Given the description of an element on the screen output the (x, y) to click on. 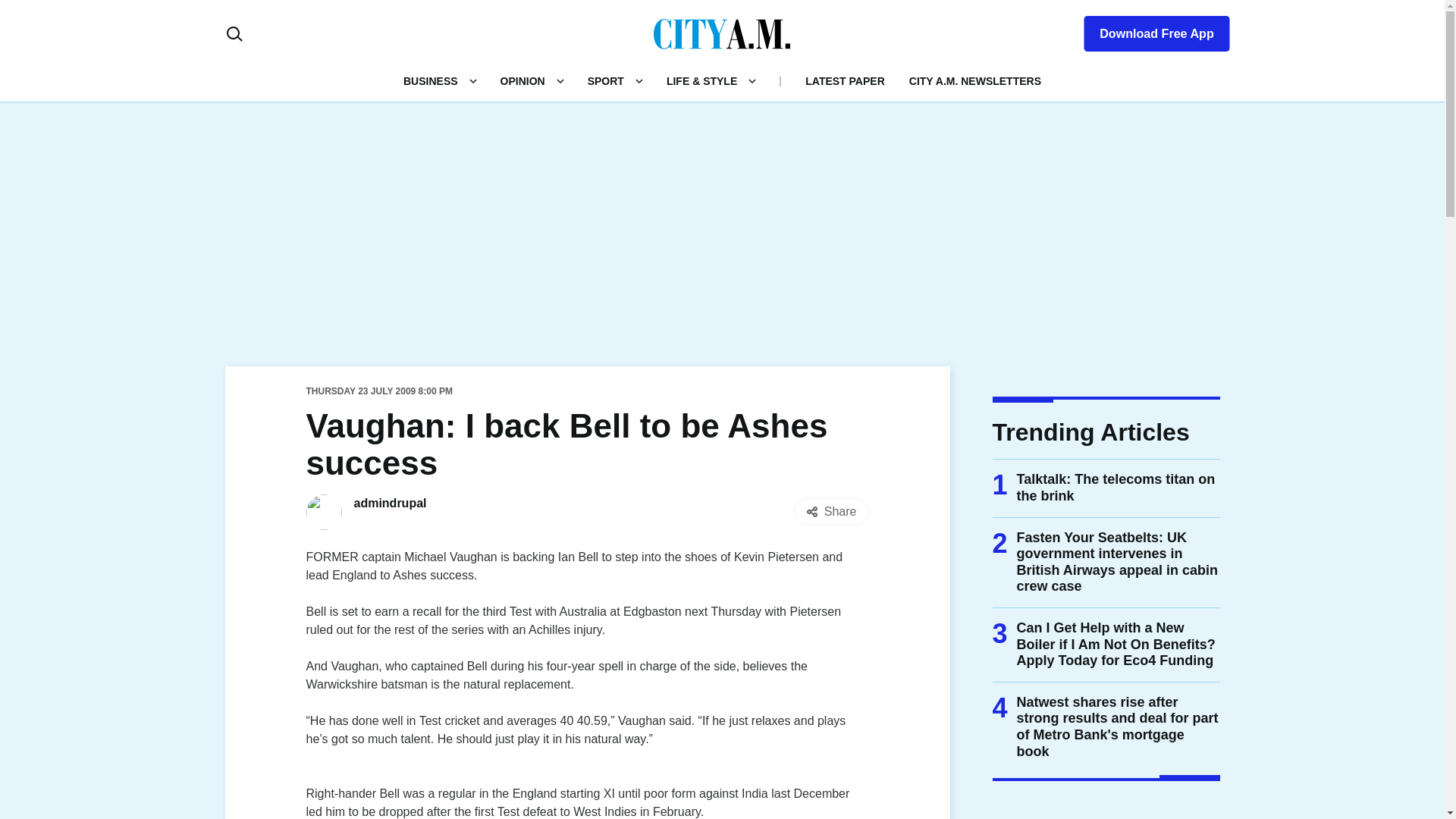
SPORT (606, 80)
Download Free App (1146, 30)
CityAM (721, 33)
BUSINESS (430, 80)
OPINION (522, 80)
